Given the description of an element on the screen output the (x, y) to click on. 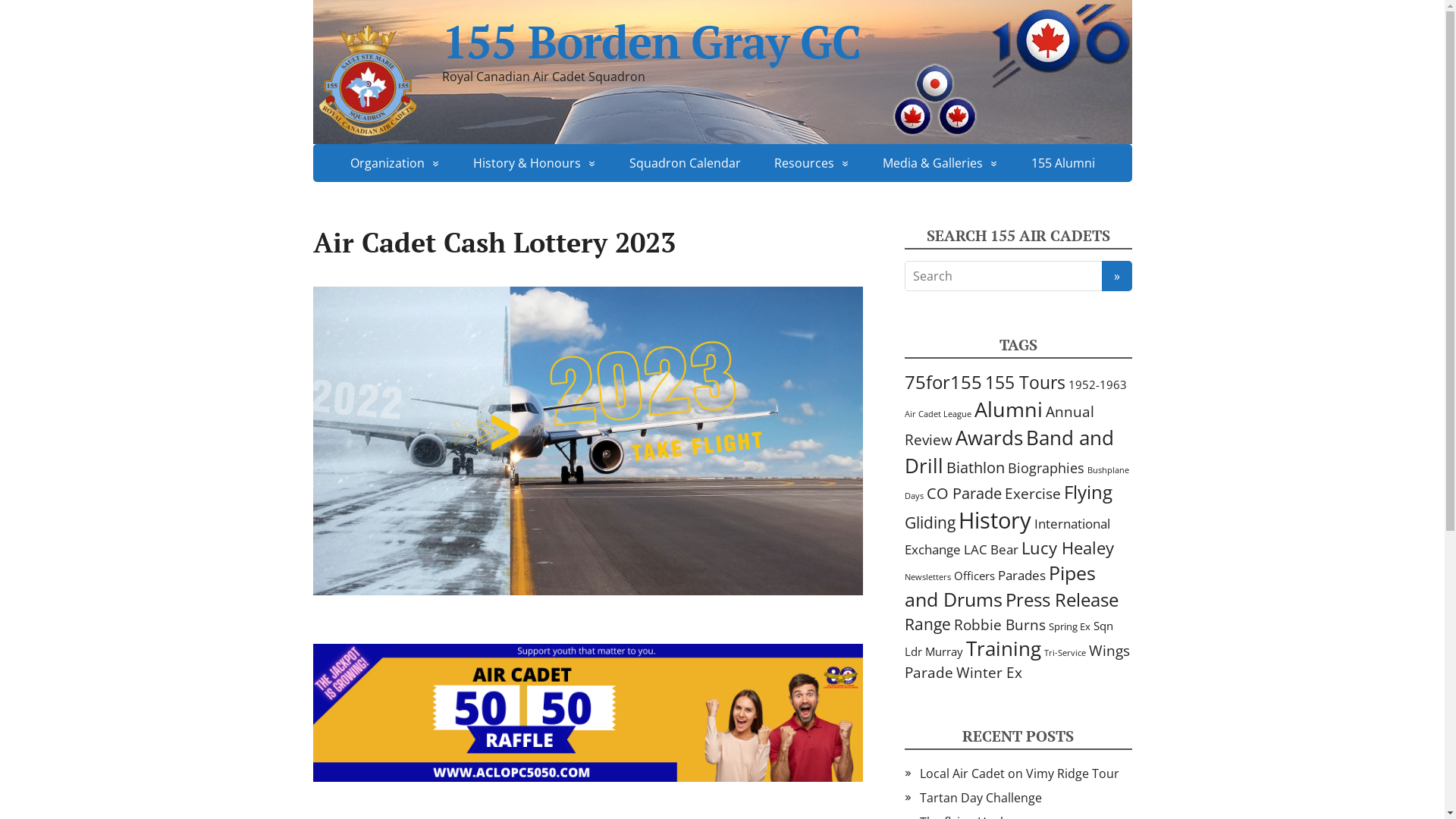
Lucy Healey Element type: text (1066, 547)
155 Borden Gray GC Element type: text (721, 41)
Gliding Element type: text (928, 522)
Newsletters Element type: text (926, 576)
LAC Bear Element type: text (990, 549)
Range Element type: text (926, 623)
Flying Element type: text (1087, 492)
Awards Element type: text (988, 437)
Band and Drill Element type: text (1008, 451)
Organization Element type: text (395, 163)
75for155 Element type: text (942, 382)
Parades Element type: text (1021, 574)
Air Cadet League Element type: text (936, 413)
155 Tours Element type: text (1024, 382)
Spring Ex Element type: text (1068, 626)
Local Air Cadet on Vimy Ridge Tour Element type: text (1018, 773)
1952-1963 Element type: text (1096, 384)
155 Alumni Element type: text (1063, 163)
Press Release Element type: text (1061, 599)
Sqn Ldr Murray Element type: text (1007, 638)
Pipes and Drums Element type: text (999, 585)
Annual Review Element type: text (998, 424)
Winter Ex Element type: text (988, 671)
Wings Parade Element type: text (1016, 660)
Biathlon Element type: text (975, 466)
Media & Galleries Element type: text (940, 163)
Alumni Element type: text (1007, 409)
CO Parade Element type: text (963, 492)
Bushplane Days Element type: text (1015, 482)
Tri-Service Element type: text (1064, 652)
Training Element type: text (1003, 648)
History & Honours Element type: text (534, 163)
Resources Element type: text (810, 163)
Exercise Element type: text (1032, 492)
Squadron Calendar Element type: text (685, 163)
Officers Element type: text (973, 575)
Biographies Element type: text (1045, 467)
International Exchange Element type: text (1006, 536)
Robbie Burns Element type: text (999, 624)
Tartan Day Challenge Element type: text (980, 797)
History Element type: text (994, 520)
